Given the description of an element on the screen output the (x, y) to click on. 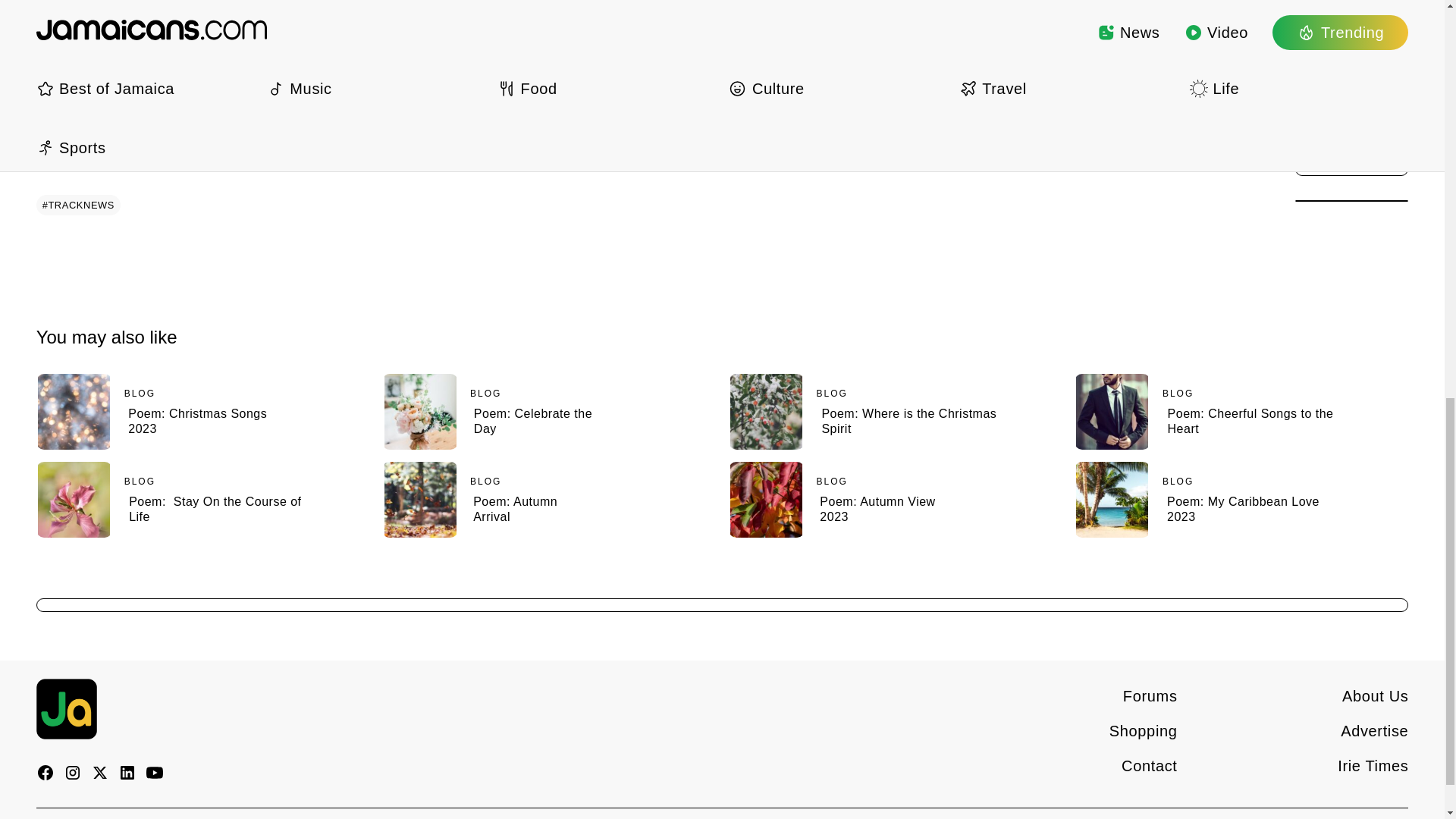
Cash-strapped Jamaican thrower cries for help (194, 3)
